Given the description of an element on the screen output the (x, y) to click on. 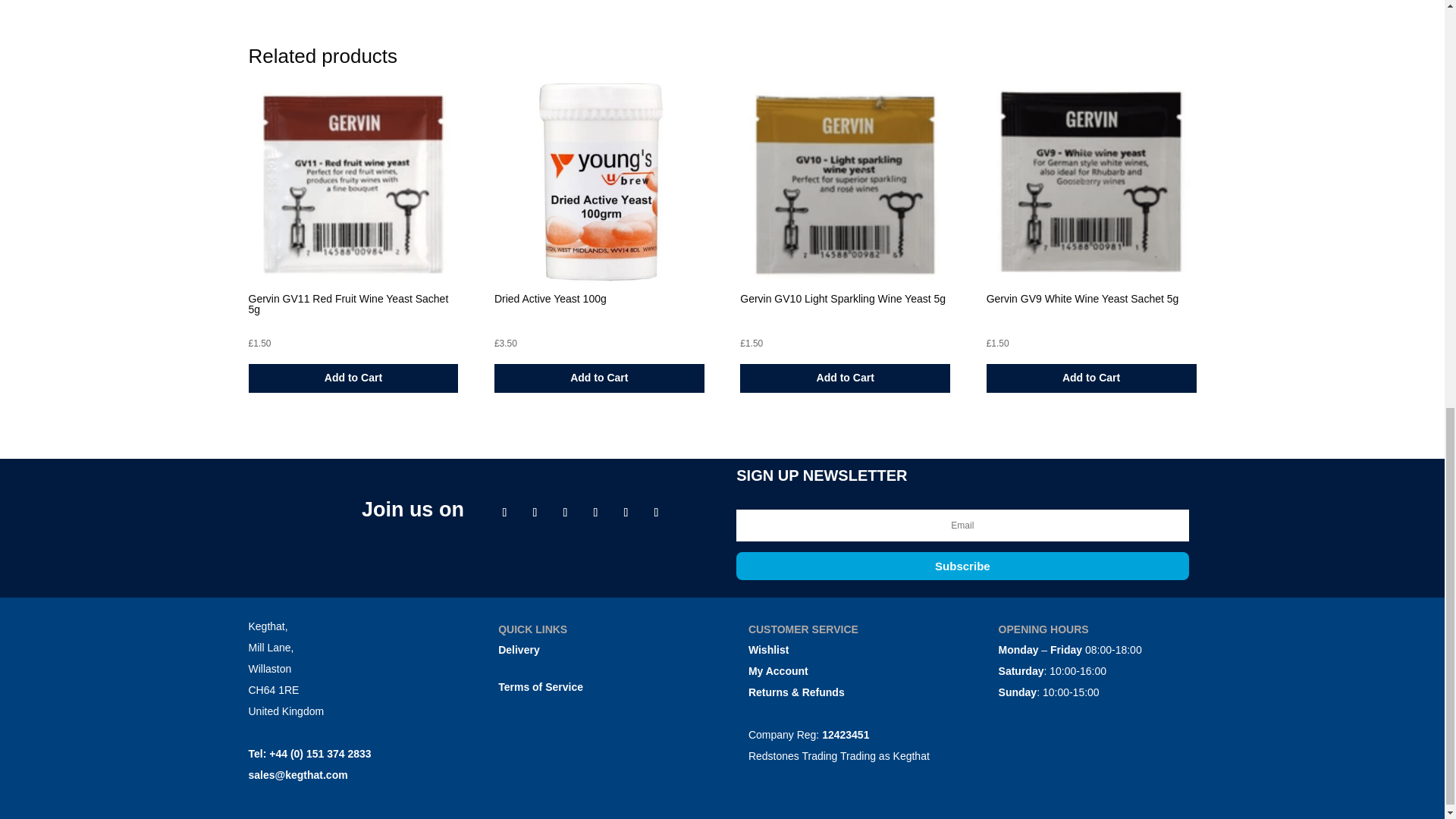
Follow on Youtube (655, 512)
Visa (596, 731)
Follow on X (534, 512)
Follow on Facebook (504, 512)
Follow on Pinterest (595, 512)
Follow on Instagram (564, 512)
Follow on TikTok (624, 512)
